Given the description of an element on the screen output the (x, y) to click on. 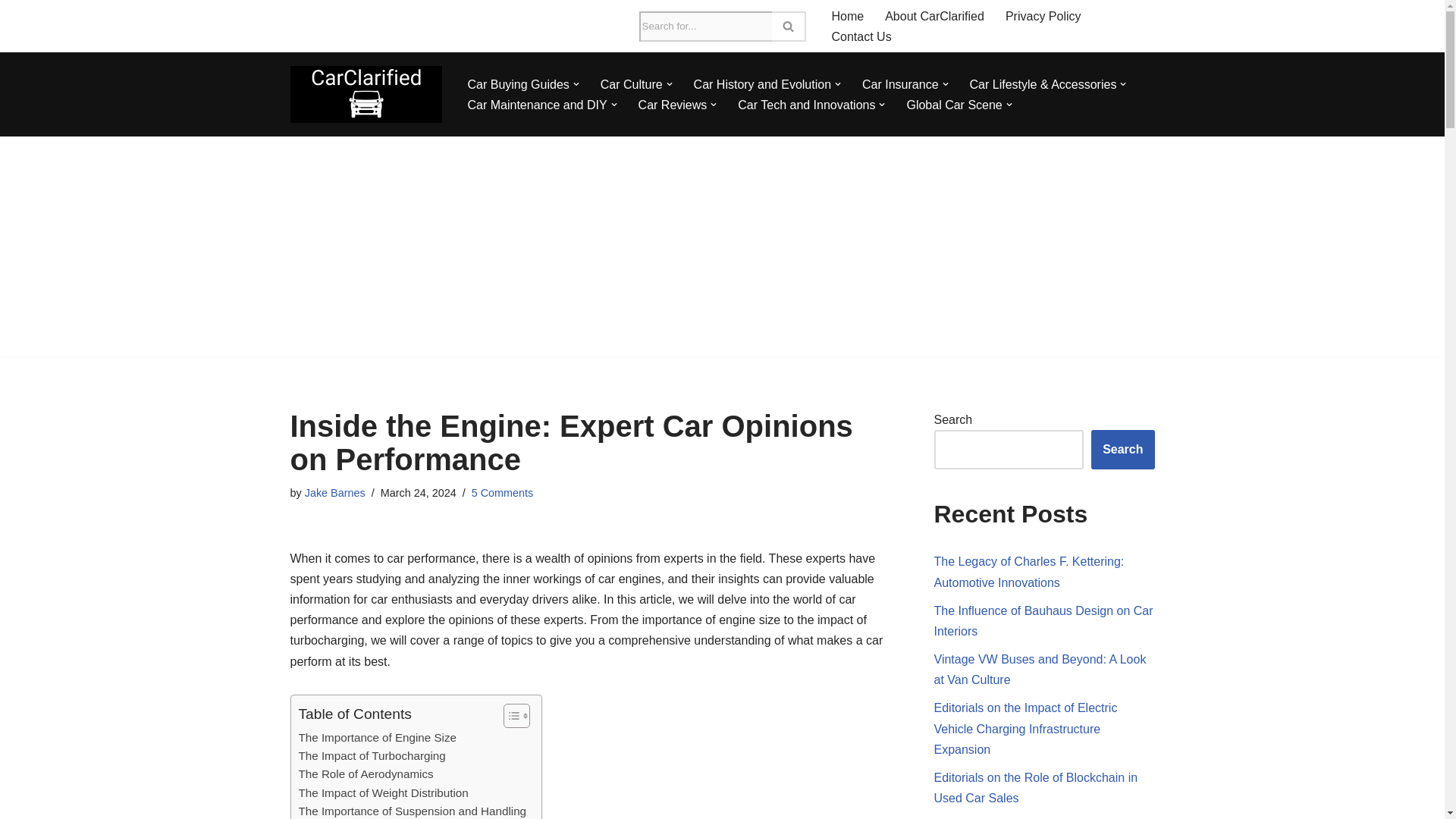
Posts by Jake Barnes (334, 492)
Skip to content (11, 31)
The Importance of Suspension and Handling (412, 810)
Privacy Policy (1043, 15)
The Impact of Turbocharging (371, 755)
Car Buying Guides (518, 84)
Car Insurance (900, 84)
Car Maintenance and DIY (537, 105)
Contact Us (861, 36)
The Impact of Weight Distribution (383, 792)
